Given the description of an element on the screen output the (x, y) to click on. 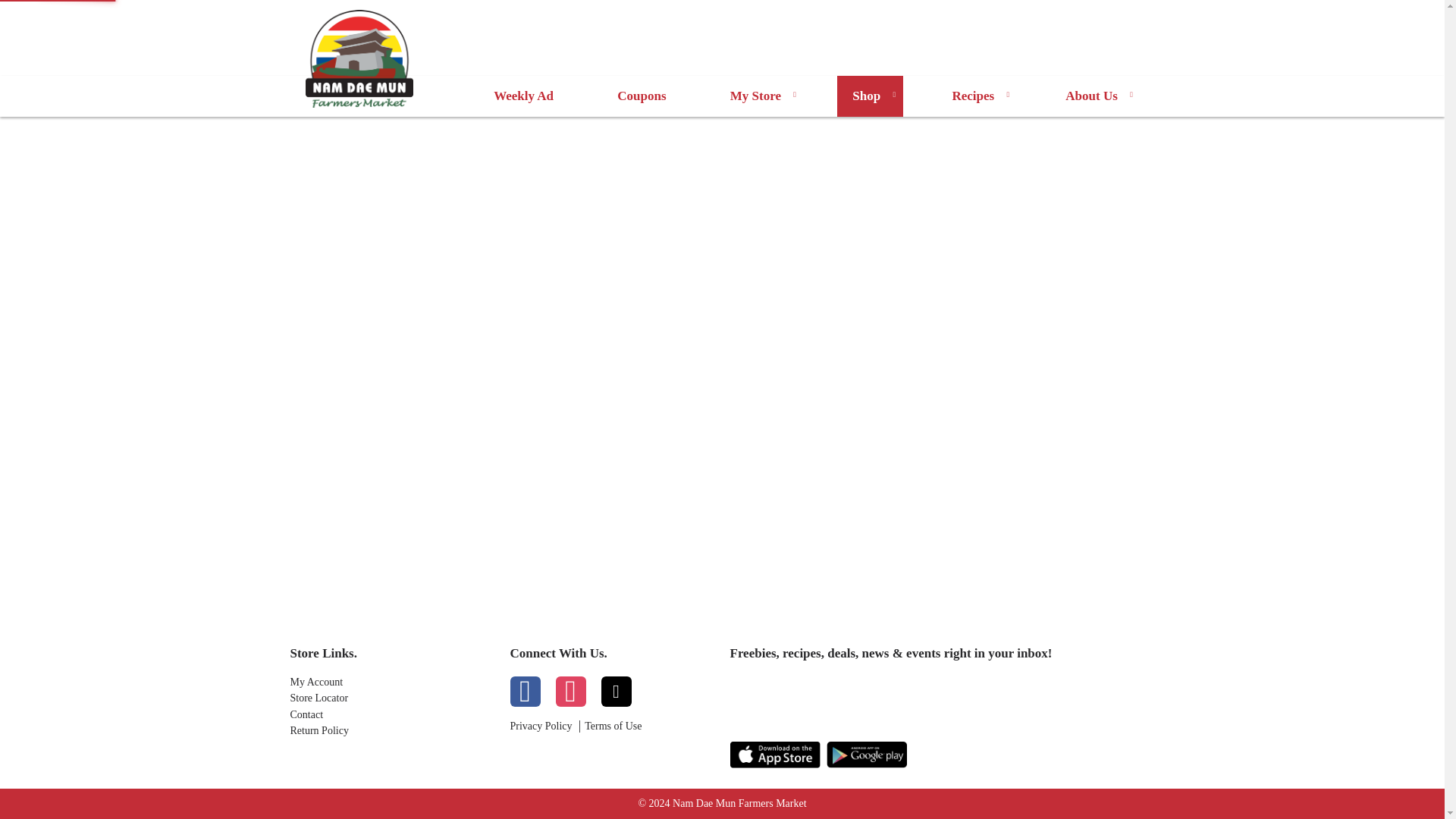
Tiktok (614, 691)
Terms of Use (613, 726)
Store Locator (392, 698)
My Store (758, 96)
Shop (869, 96)
About Us (1094, 96)
Facebook (524, 691)
Contact (392, 715)
Return Policy (392, 730)
instagram (569, 691)
My Account (392, 682)
Weekly Ad (524, 96)
Privacy Policy (540, 726)
Recipes (976, 96)
Coupons (641, 96)
